Given the description of an element on the screen output the (x, y) to click on. 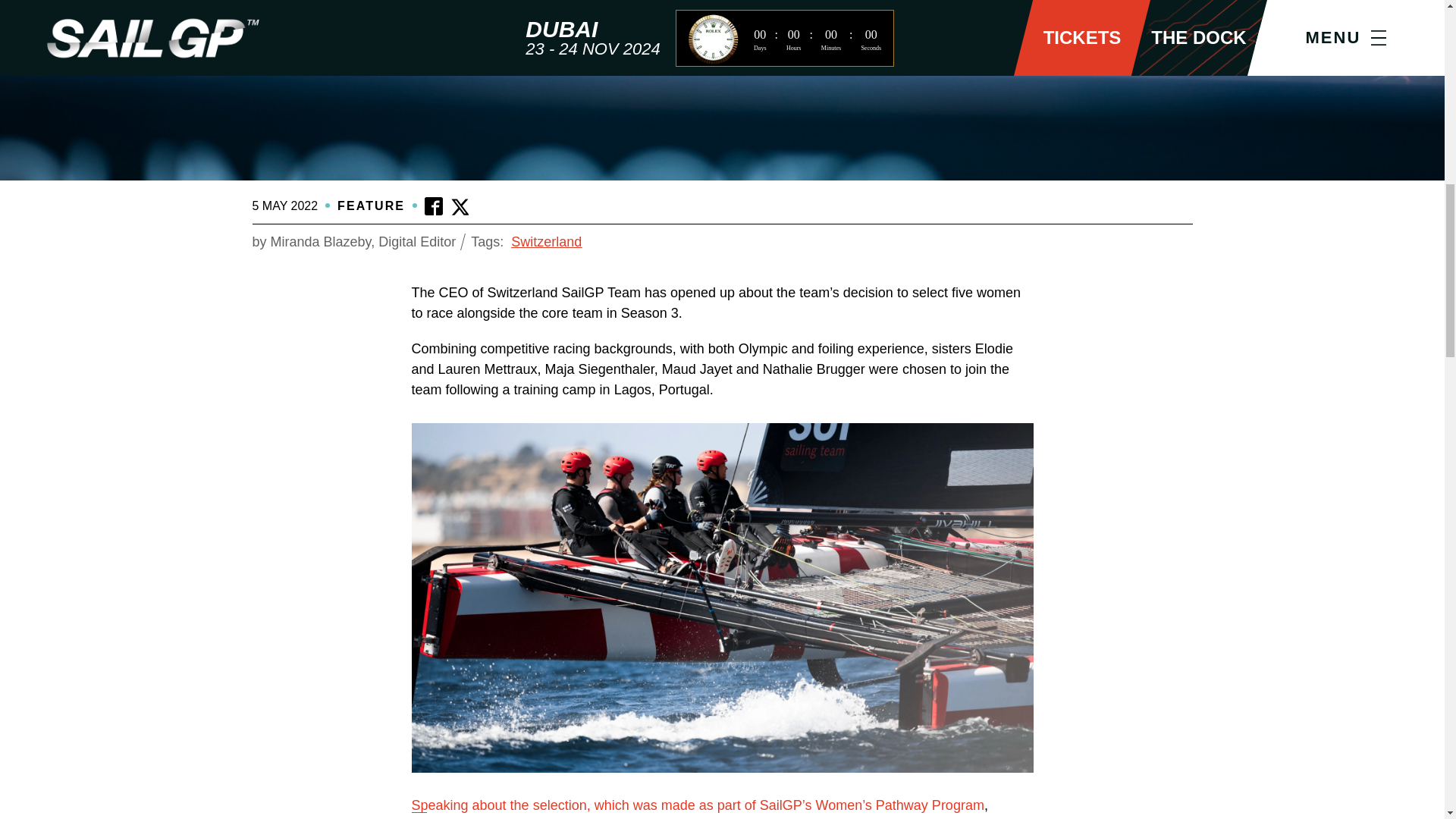
Switzerland (545, 241)
